Given the description of an element on the screen output the (x, y) to click on. 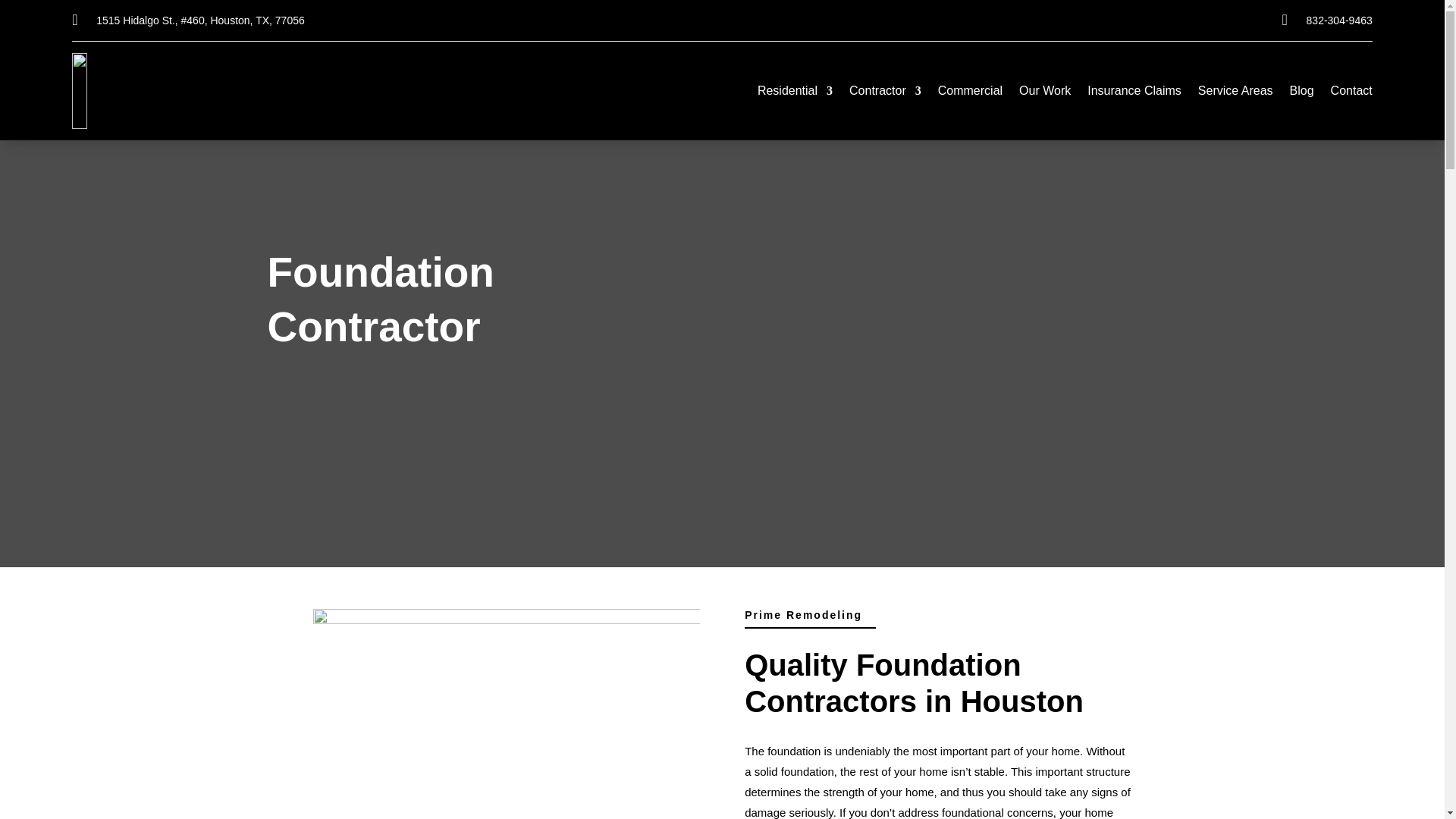
Contact (1351, 93)
Prime Foundation Contractor -1 (505, 714)
832-304-9463 (1339, 20)
Service Areas (1235, 93)
Residential (794, 93)
Blog (1302, 93)
Our Work (1044, 93)
Contractor (884, 93)
Insurance Claims (1133, 93)
Prime-remodeling-wh-logo.png (154, 90)
Commercial (970, 93)
